Given the description of an element on the screen output the (x, y) to click on. 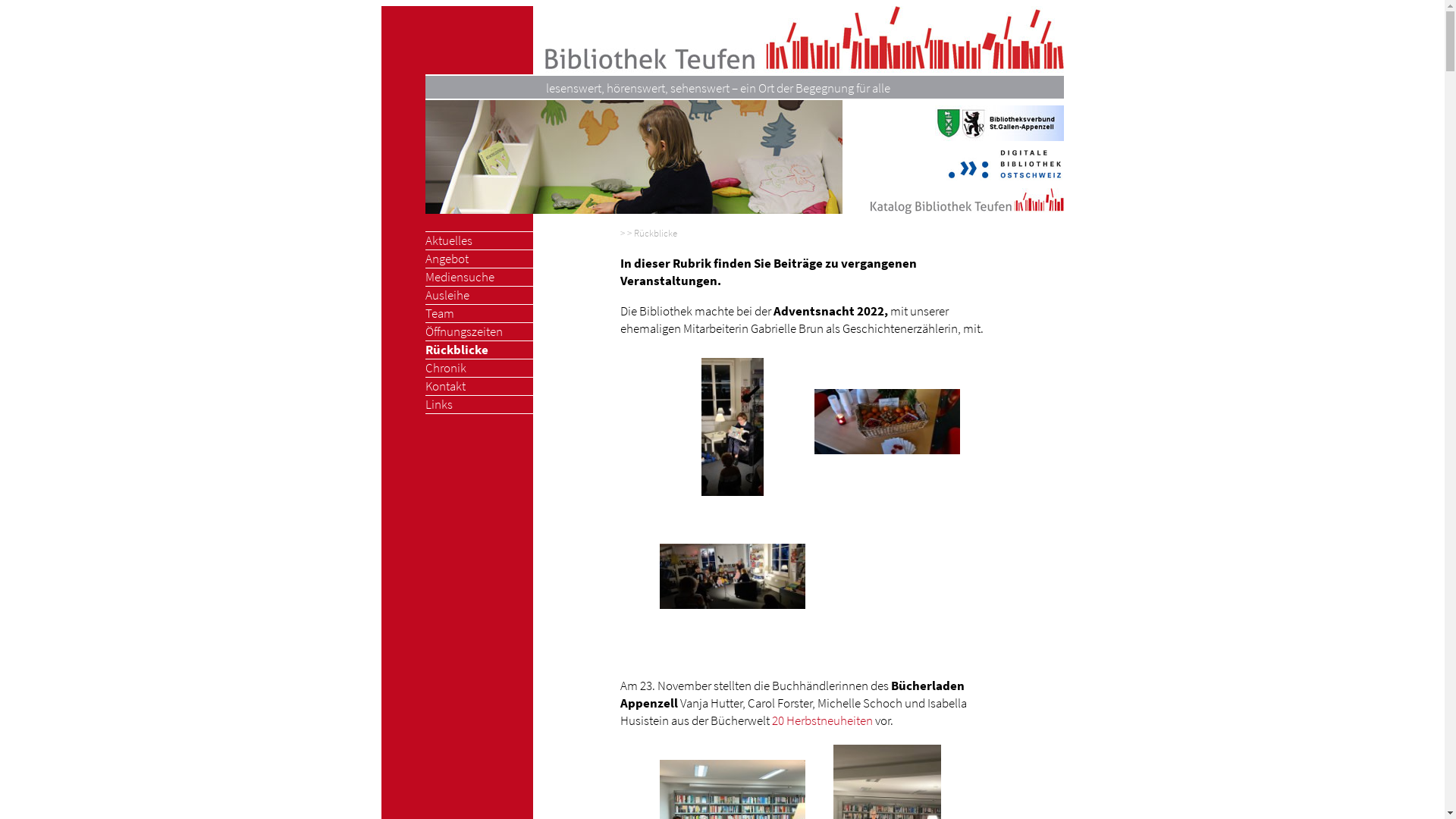
> Element type: text (622, 232)
Chronik Element type: text (444, 367)
20 Herbstneuheiten Element type: text (821, 720)
Aktuelles Element type: text (447, 240)
Kontakt Element type: text (444, 386)
Mediensuche Element type: text (458, 276)
Links Element type: text (437, 404)
Angebot Element type: text (445, 258)
Team Element type: text (438, 313)
Ausleihe Element type: text (446, 295)
